Given the description of an element on the screen output the (x, y) to click on. 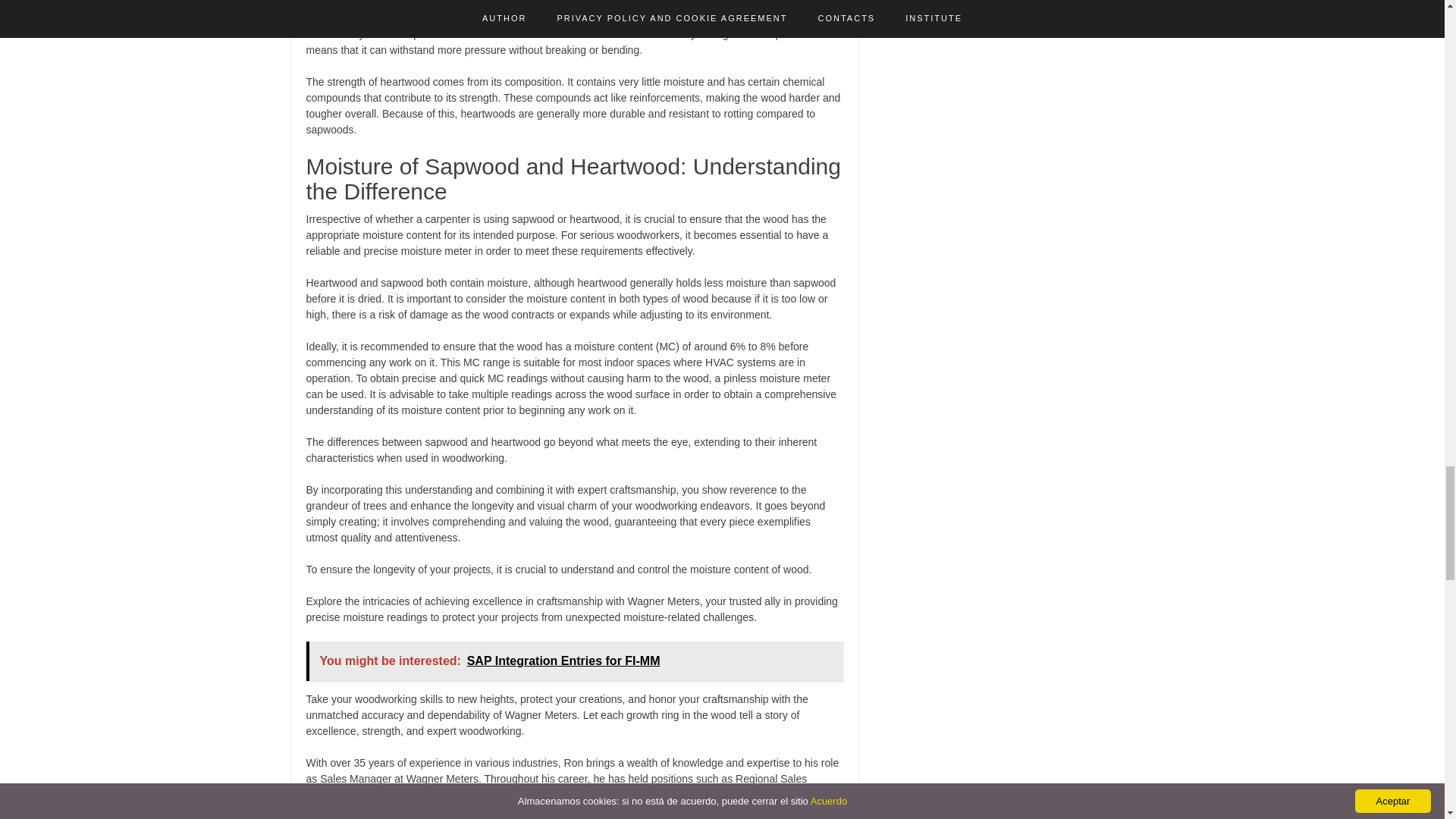
You might be interested:  SAP Integration Entries for FI-MM (574, 660)
